Given the description of an element on the screen output the (x, y) to click on. 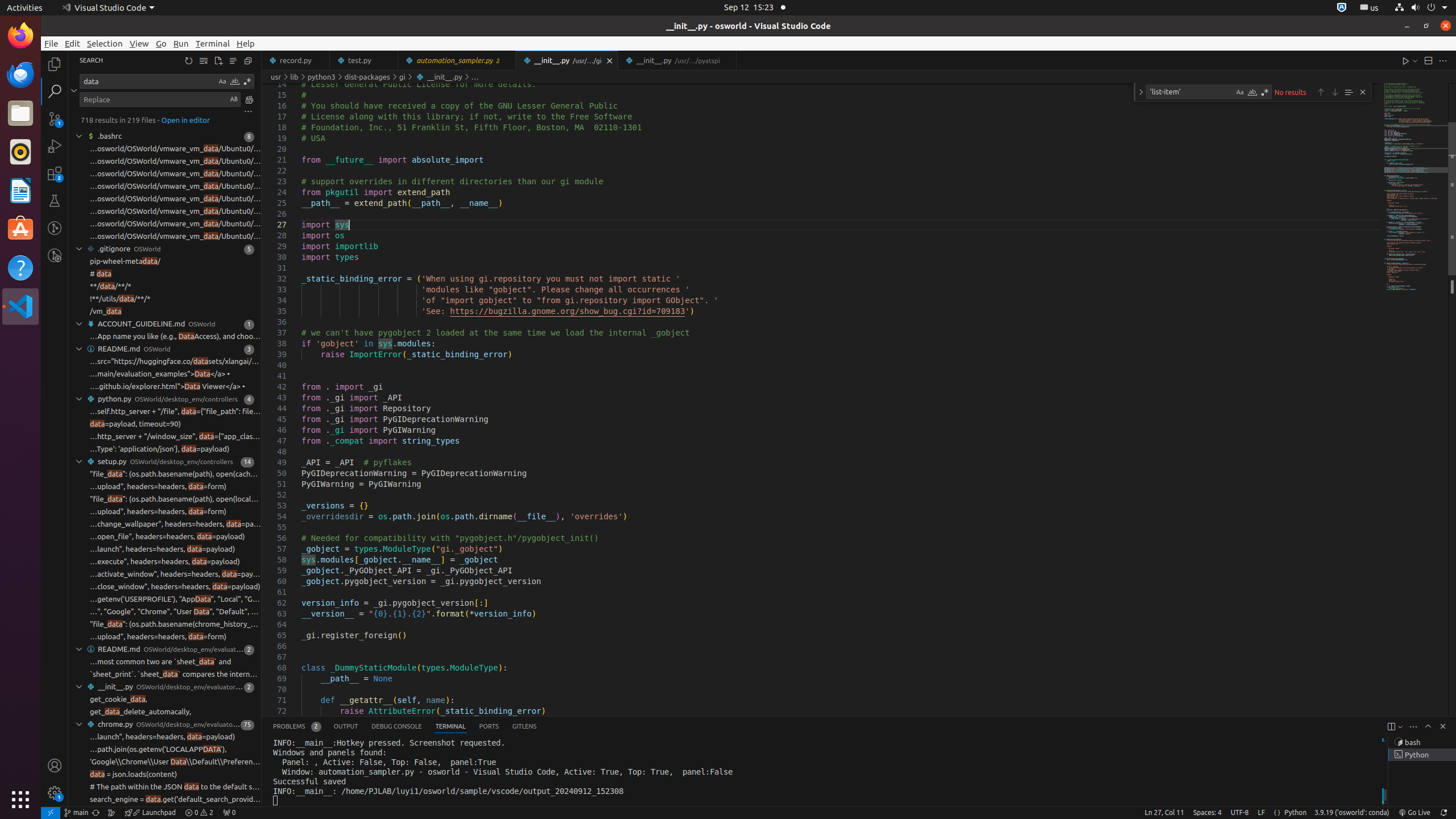
Split Editor Right (Ctrl+\) [Alt] Split Editor Down Element type: push-button (1427, 60)
Preserve Case (Alt+P) Element type: check-box (233, 99)
"file_data": (os.path.basename(chrome_history_path), open(db_path, "rb")) Element type: link (175, 623)
Run Element type: push-button (181, 43)
' response = requests.post(self.http_server + "/setup" + "/execute", headers=headers, data=payload)' at column 101 found data Element type: tree-item (164, 561)
